Given the description of an element on the screen output the (x, y) to click on. 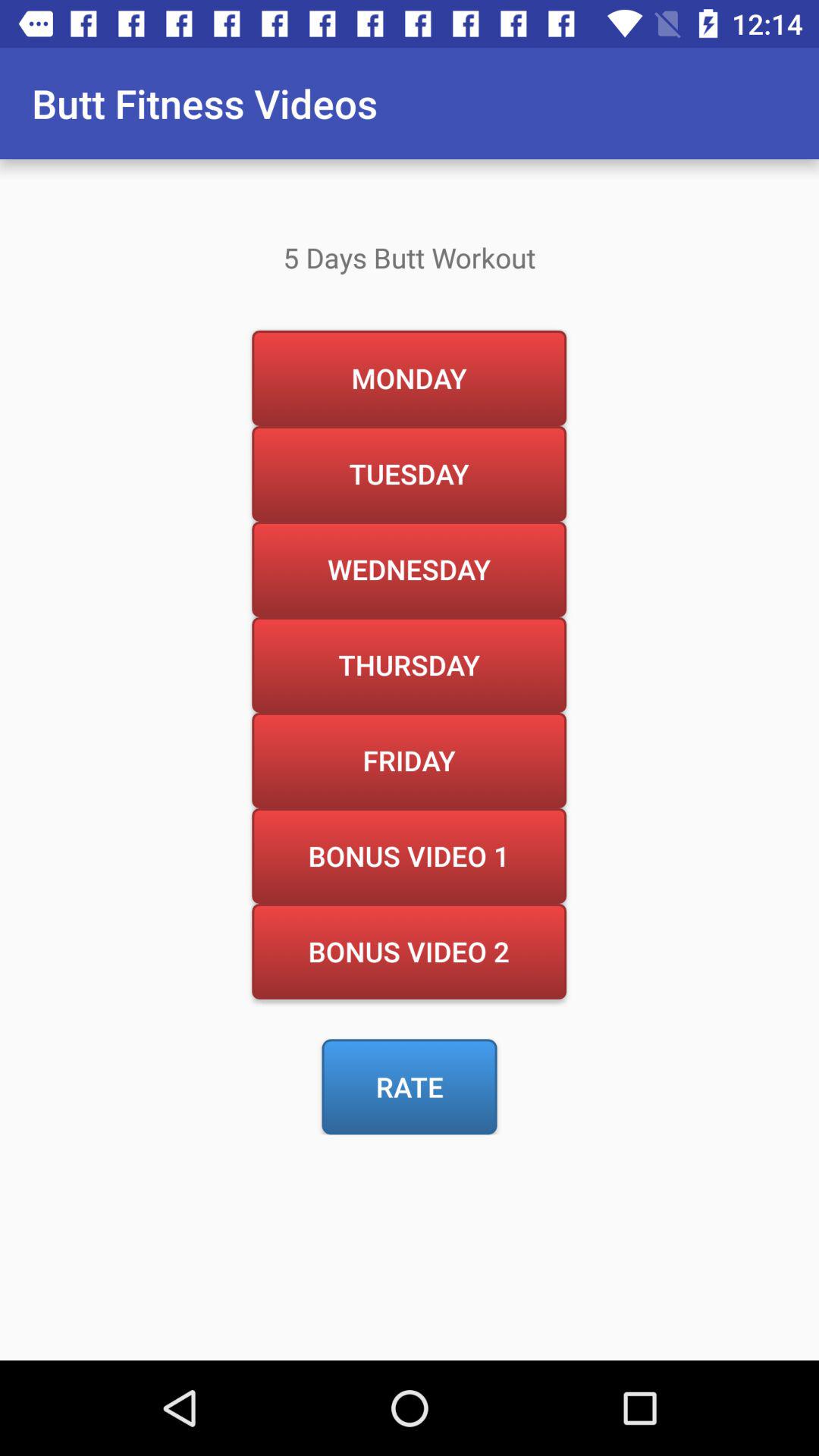
launch the item above the tuesday icon (408, 377)
